Given the description of an element on the screen output the (x, y) to click on. 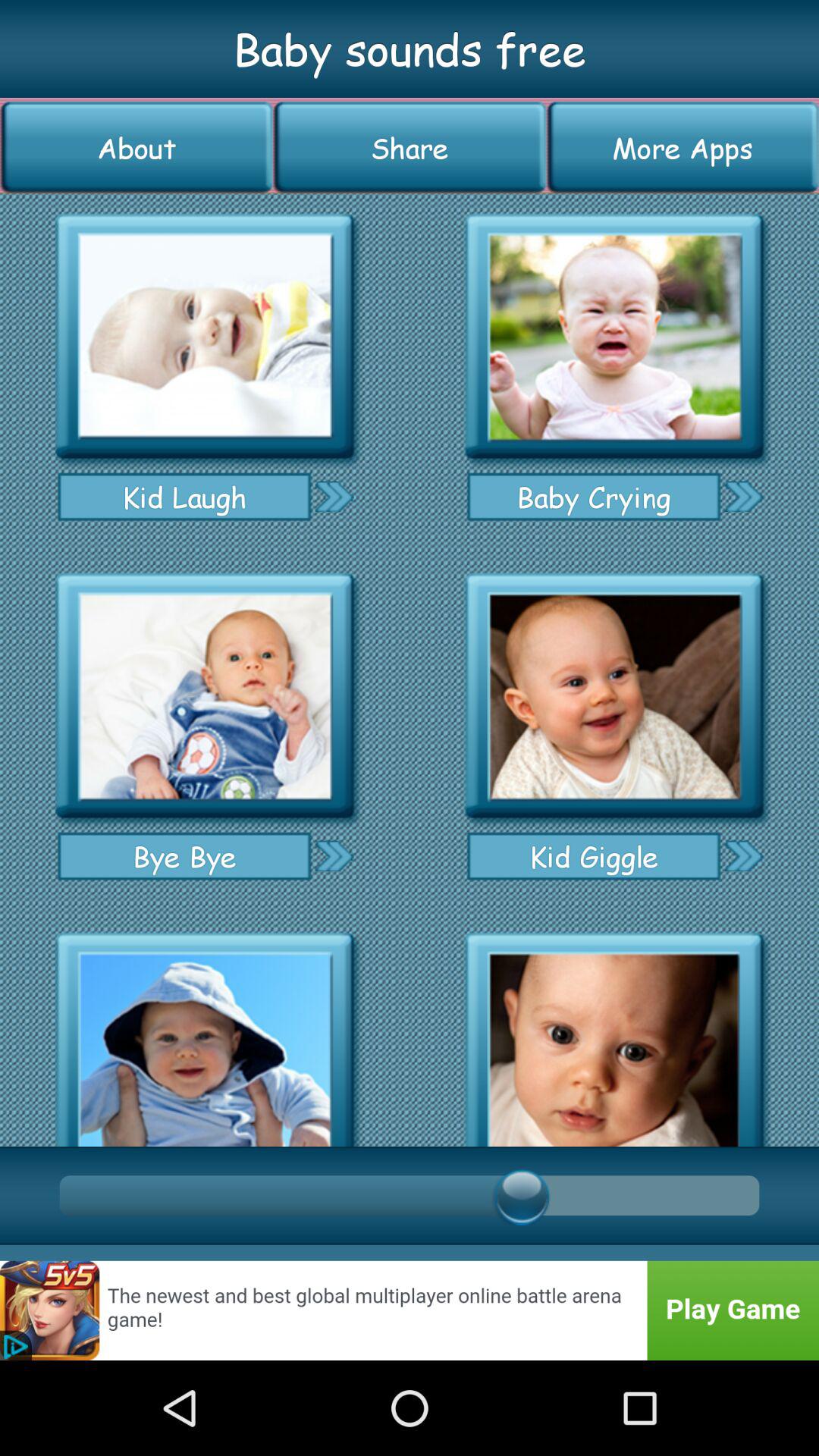
play baby crying sound effect (613, 336)
